Given the description of an element on the screen output the (x, y) to click on. 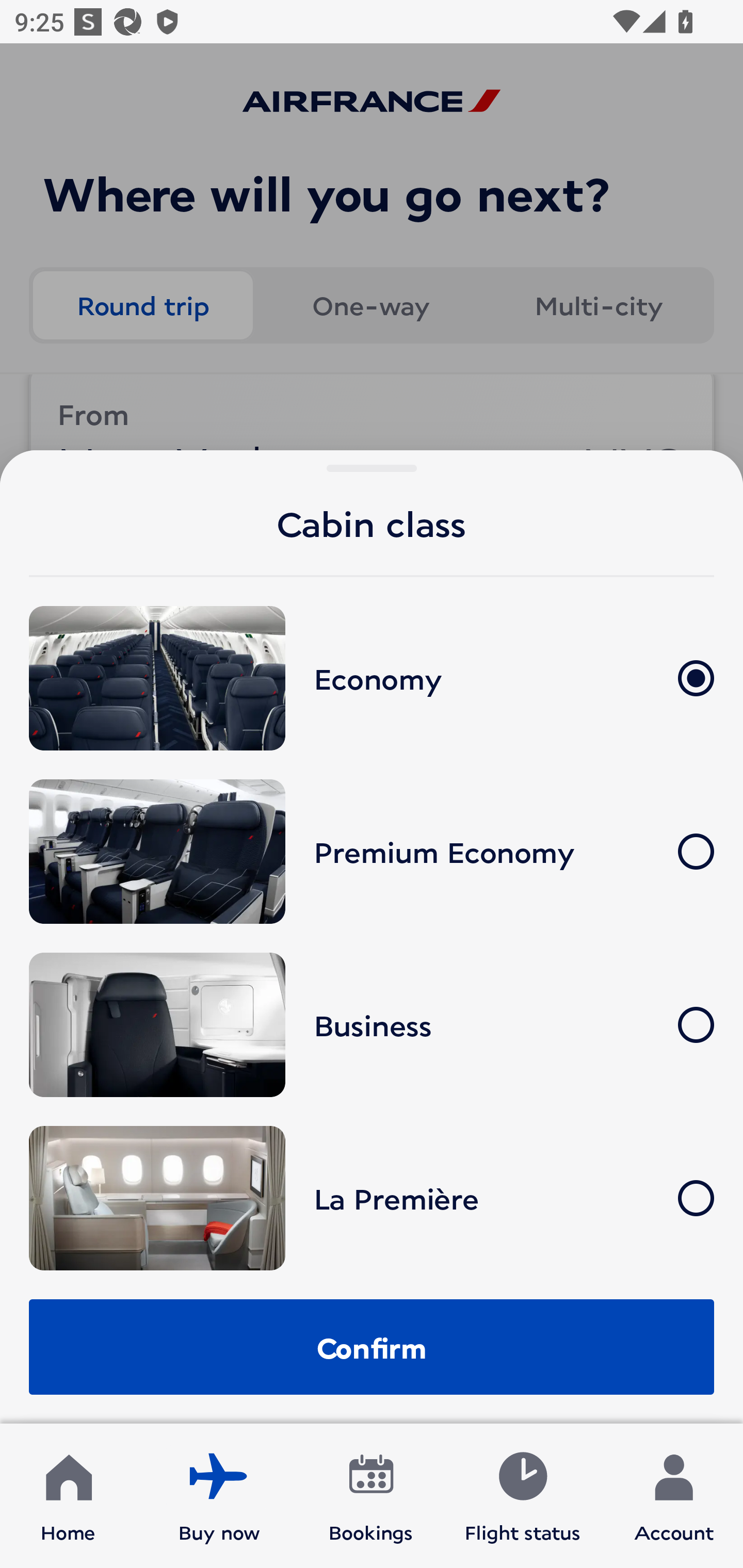
Economy (371, 678)
Premium Economy (371, 851)
Business (371, 1025)
La Première (371, 1197)
Confirm (371, 1346)
Home (68, 1495)
Bookings (370, 1495)
Flight status (522, 1495)
Account (674, 1495)
